Given the description of an element on the screen output the (x, y) to click on. 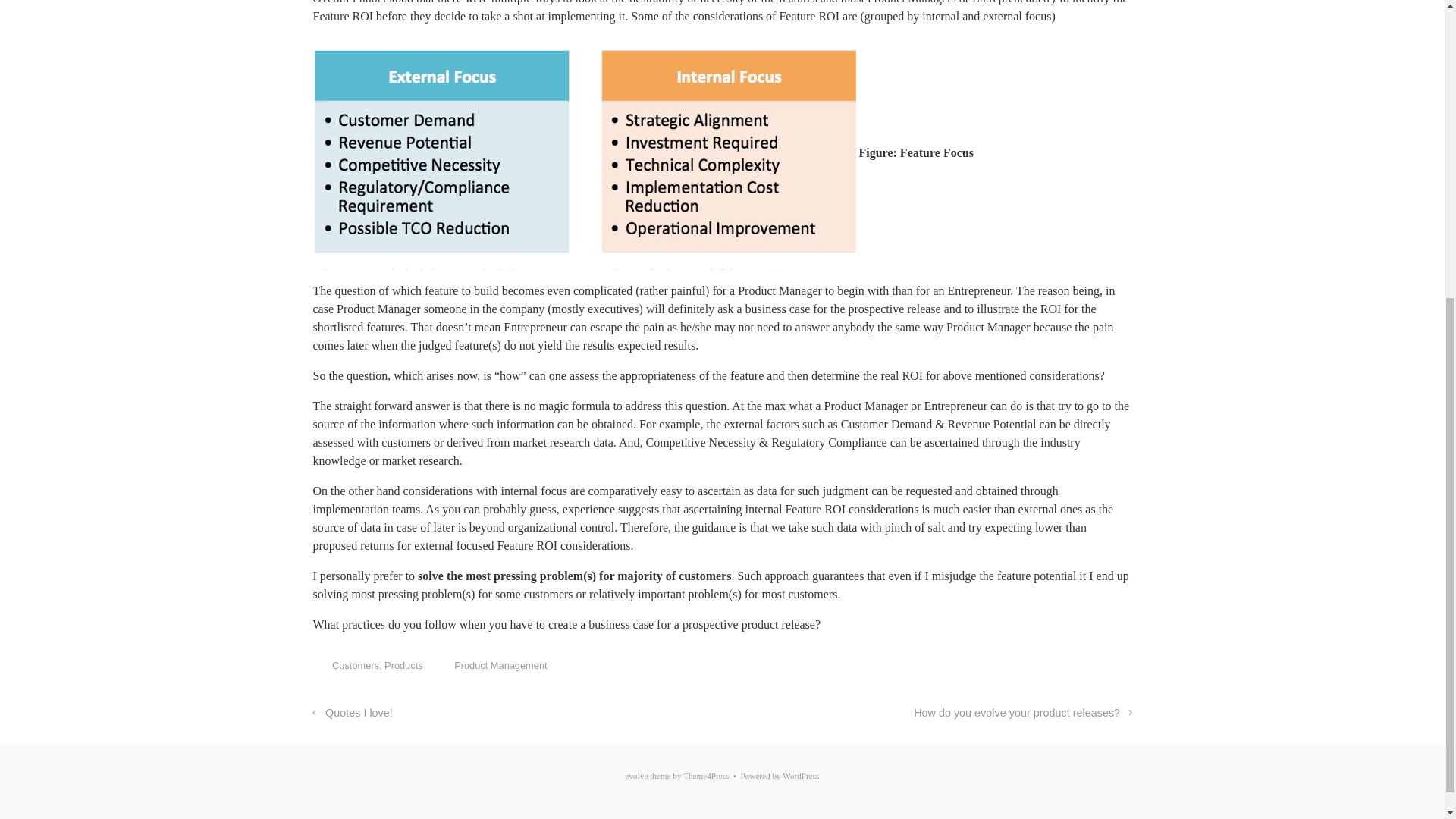
Product Management (500, 665)
Customers (354, 665)
Products (403, 665)
How do you evolve your product releases? (1022, 712)
evolve (636, 775)
Quotes I love! (352, 712)
WordPress (800, 775)
